Given the description of an element on the screen output the (x, y) to click on. 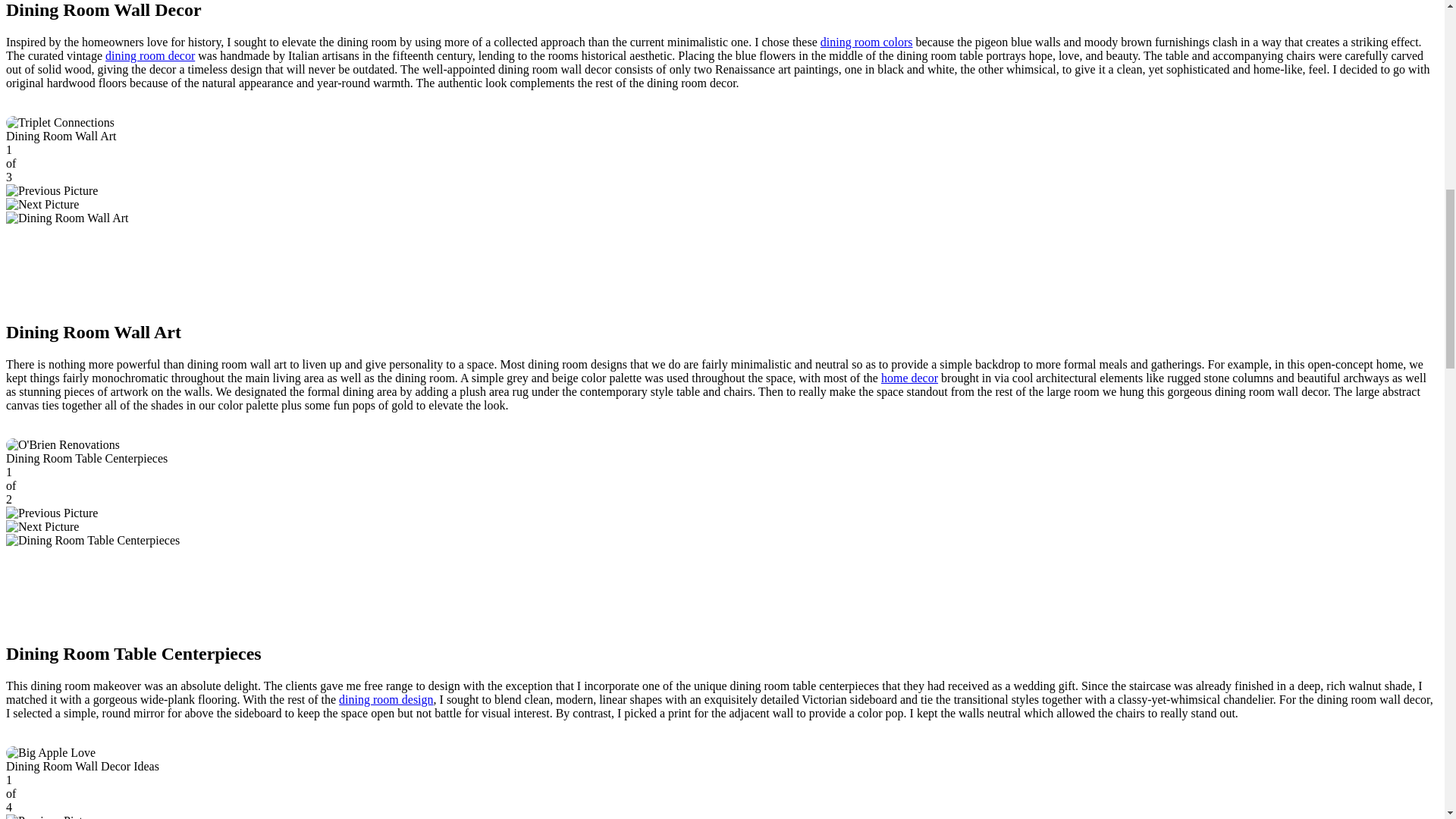
home decor (908, 377)
dining room colors (866, 42)
dining room decor (149, 55)
dining room design (385, 698)
